Given the description of an element on the screen output the (x, y) to click on. 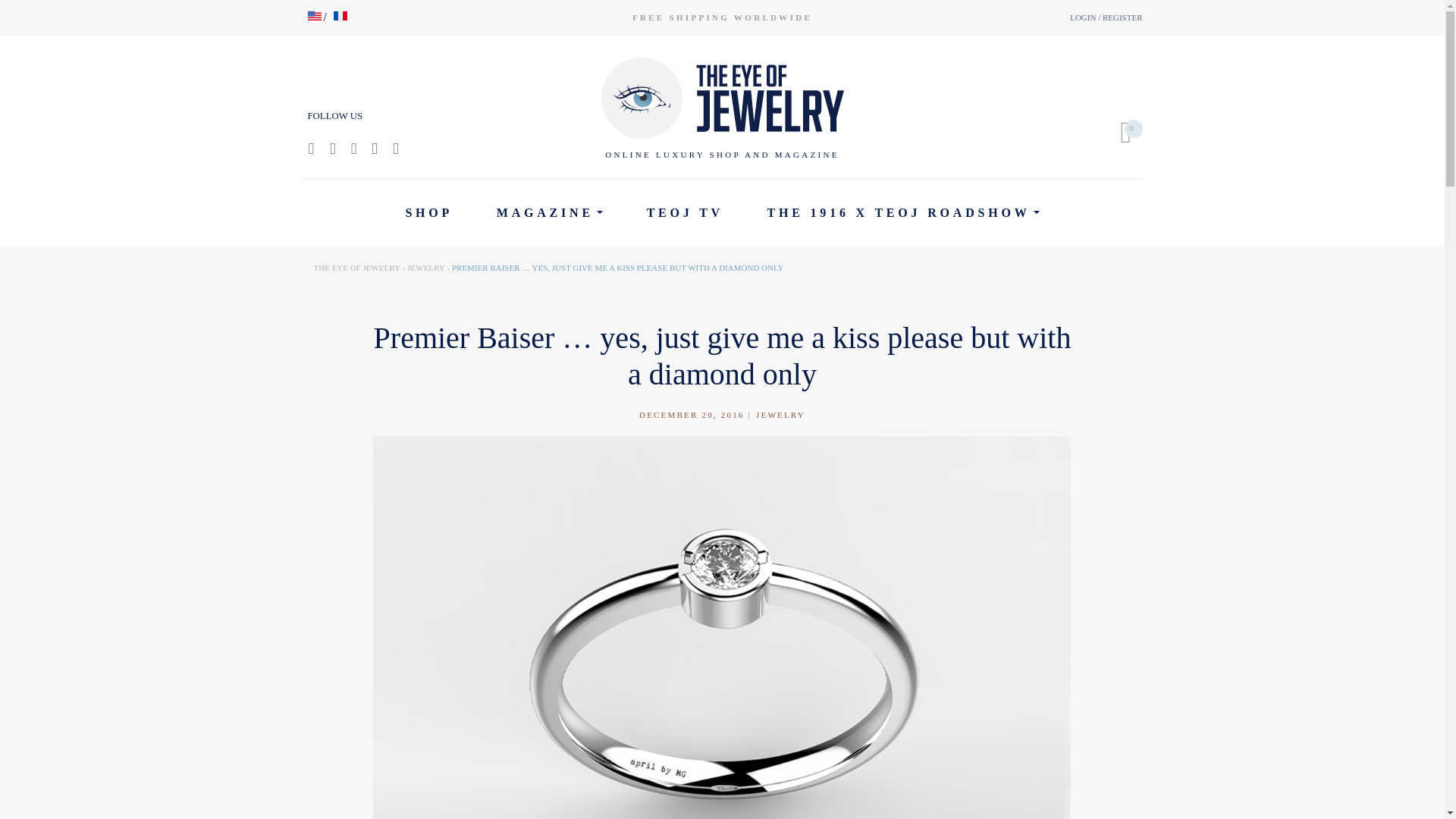
THE EYE OF JEWELRY (357, 266)
SHOP (429, 213)
MAGAZINE (549, 213)
FREE SHIPPING WORLDWIDE (722, 17)
JEWELRY (426, 266)
View your shopping cart (1118, 132)
0 (1118, 132)
TEOJ TV (684, 213)
THE 1916 X TEOJ ROADSHOW (903, 213)
JEWELRY (780, 413)
